Given the description of an element on the screen output the (x, y) to click on. 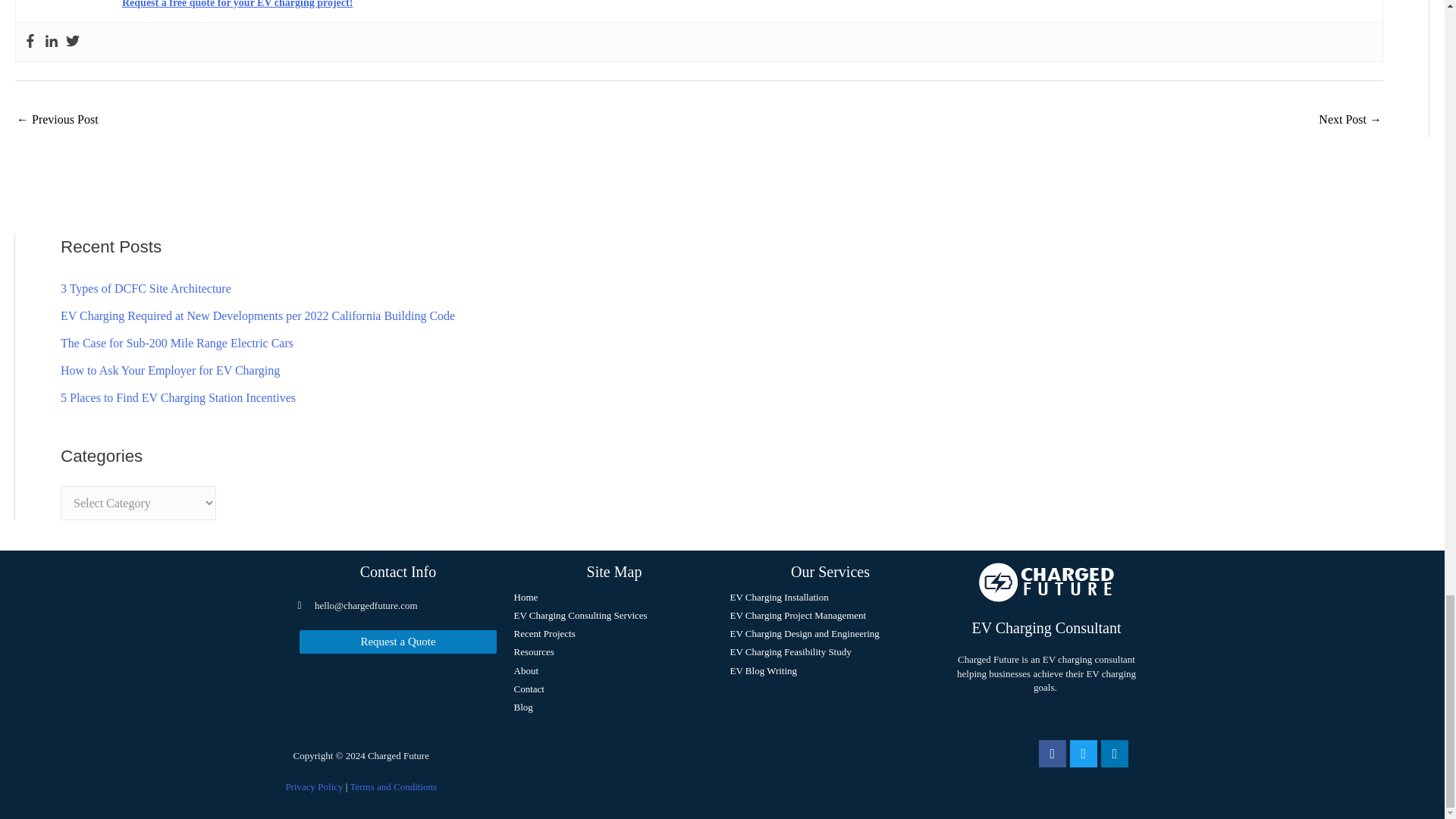
EV Charging Station Regulations in California (1350, 121)
Most Popular Public Level 2 EV Charging Networks in 2021 (57, 121)
Request a free quote for your EV charging project! (237, 4)
